Given the description of an element on the screen output the (x, y) to click on. 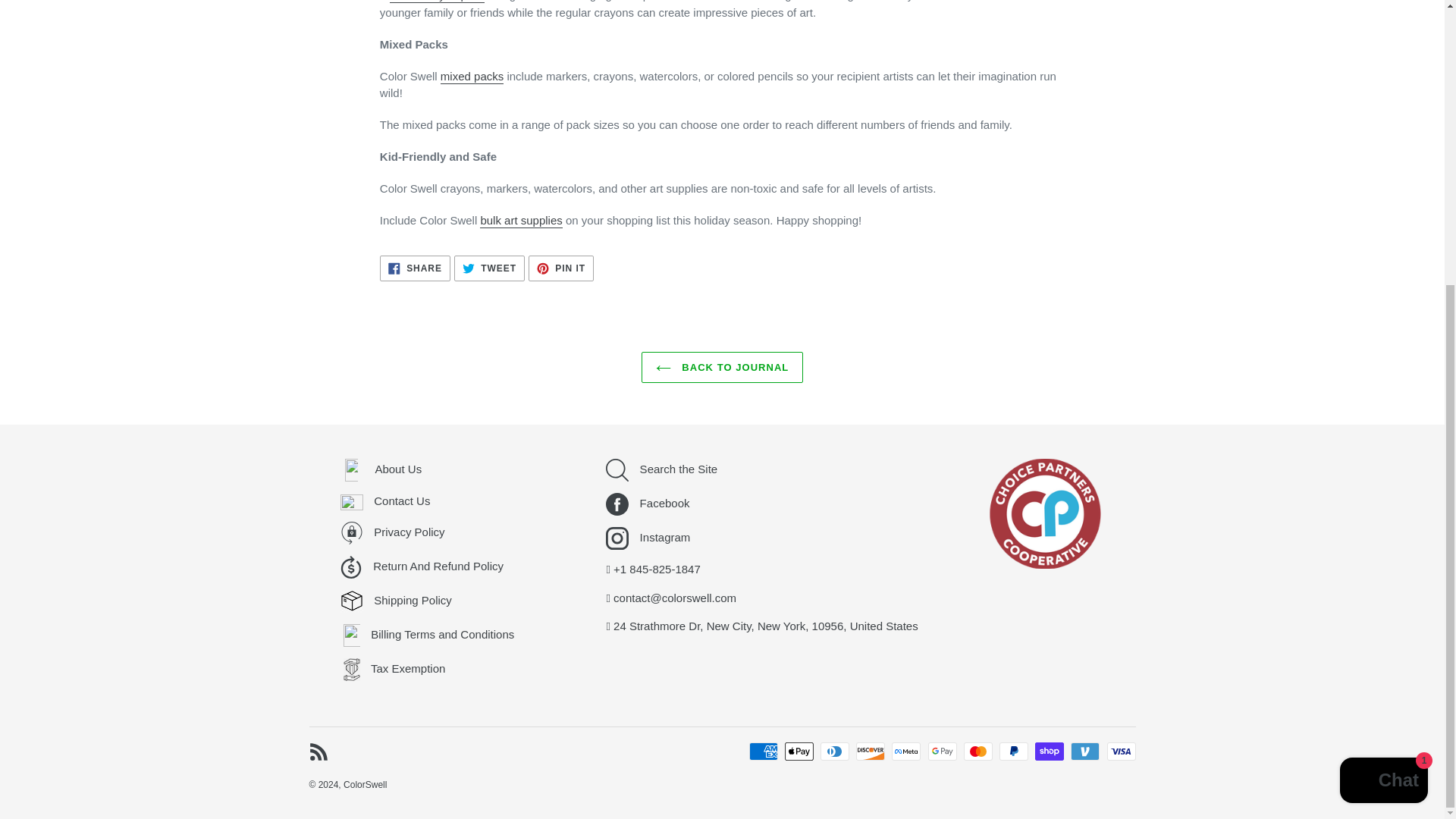
Shopify online store chat (1383, 353)
BACK TO JOURNAL (722, 368)
mixed packs (472, 76)
About Us (489, 268)
bulk art supplies (382, 468)
Privacy Policy (521, 220)
mixed crayon pack (414, 268)
Contact Us (561, 268)
Return And Refund Policy (394, 531)
